Given the description of an element on the screen output the (x, y) to click on. 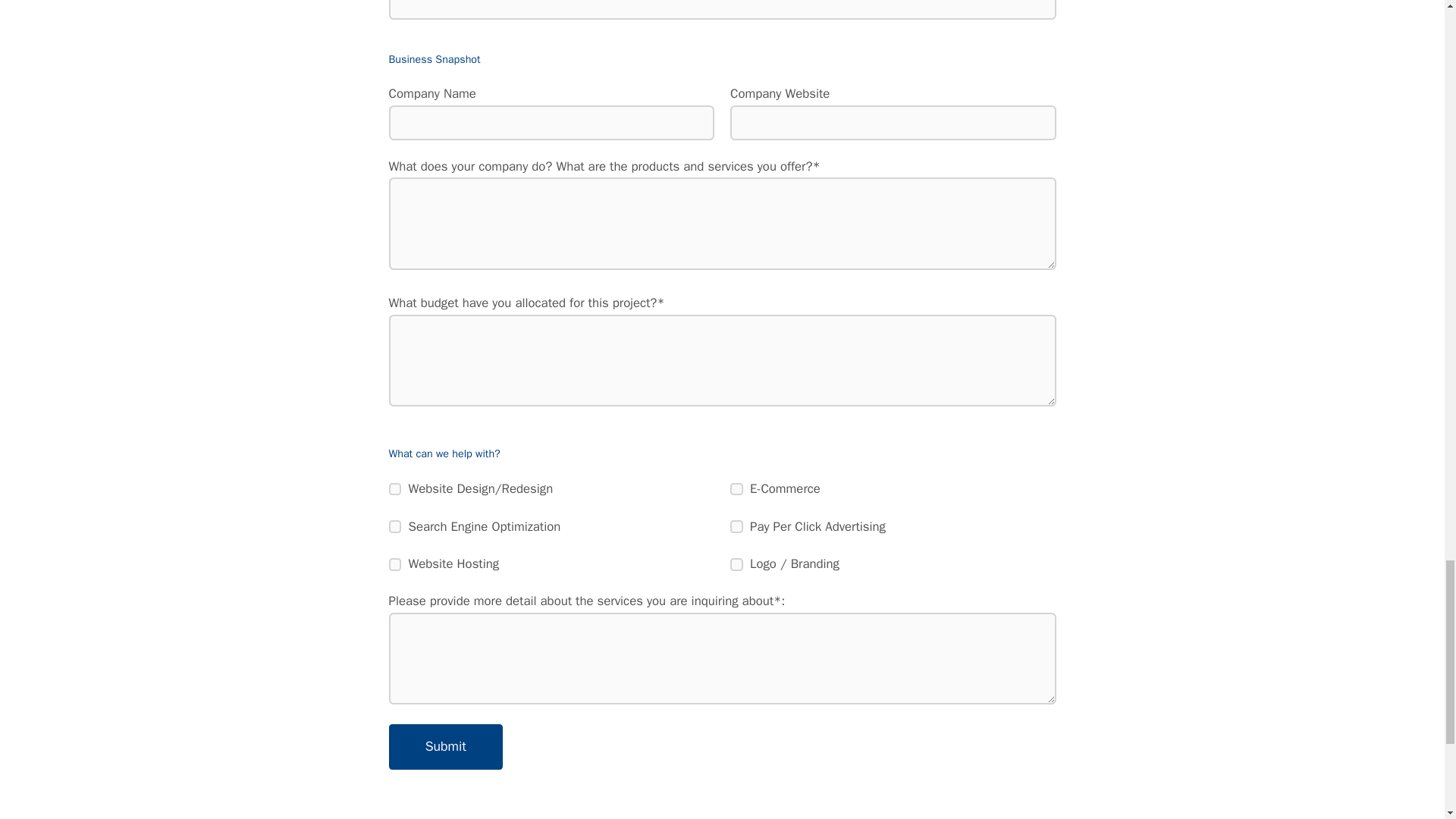
E-Commerce (736, 489)
Website Hosting (394, 563)
Search Engine Optimization (394, 526)
Pay Per Click Advertising (736, 526)
Submit (445, 746)
Submit (445, 746)
